Given the description of an element on the screen output the (x, y) to click on. 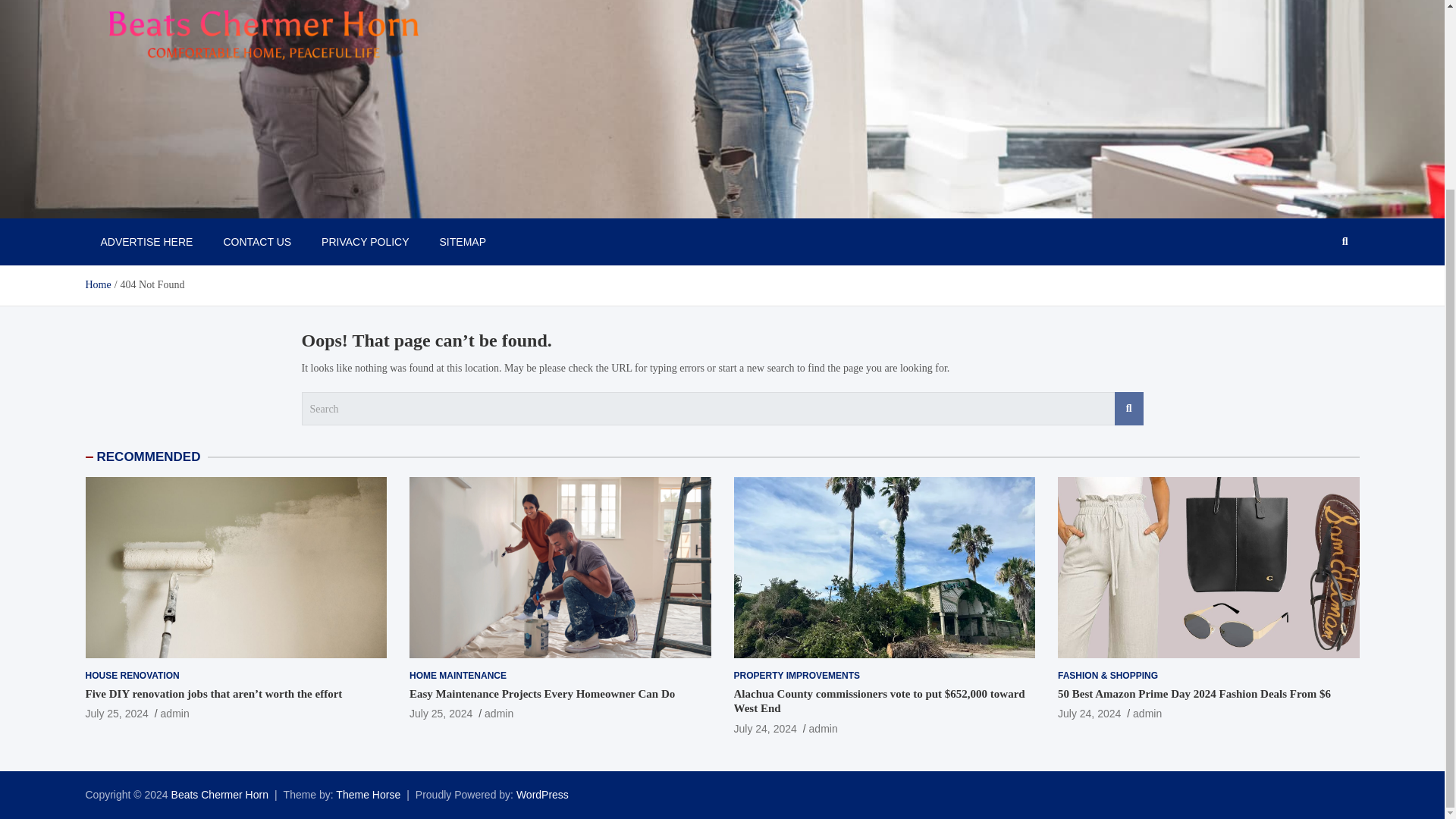
PROPERTY IMPROVEMENTS (796, 676)
admin (823, 728)
Easy Maintenance Projects Every Homeowner Can Do (440, 713)
Theme Horse (368, 794)
Theme Horse (368, 794)
Easy Maintenance Projects Every Homeowner Can Do (542, 693)
admin (1146, 713)
July 24, 2024 (1089, 713)
RECOMMENDED (148, 456)
admin (498, 713)
PRIVACY POLICY (364, 241)
WordPress (542, 794)
Home (97, 284)
HOUSE RENOVATION (131, 676)
CONTACT US (256, 241)
